Given the description of an element on the screen output the (x, y) to click on. 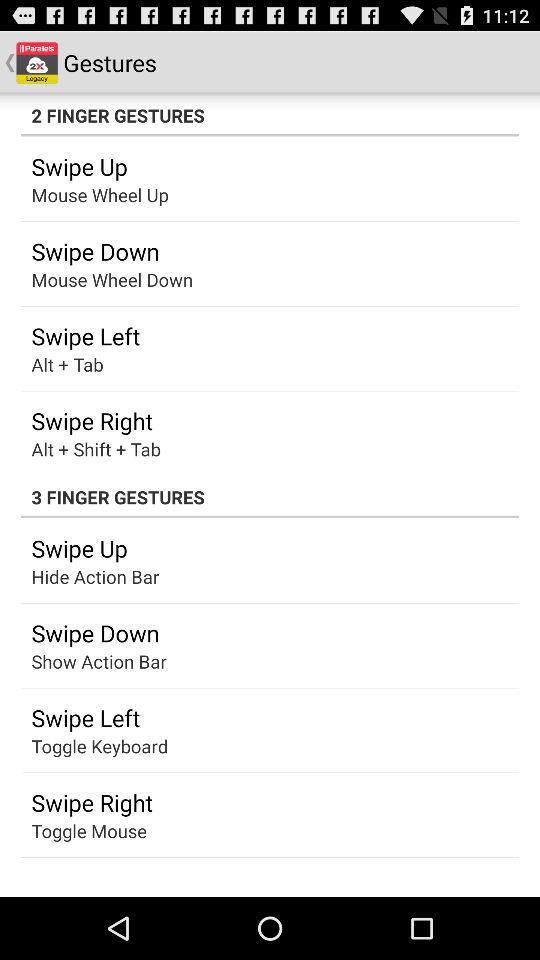
choose icon above the swipe down item (84, 576)
